Given the description of an element on the screen output the (x, y) to click on. 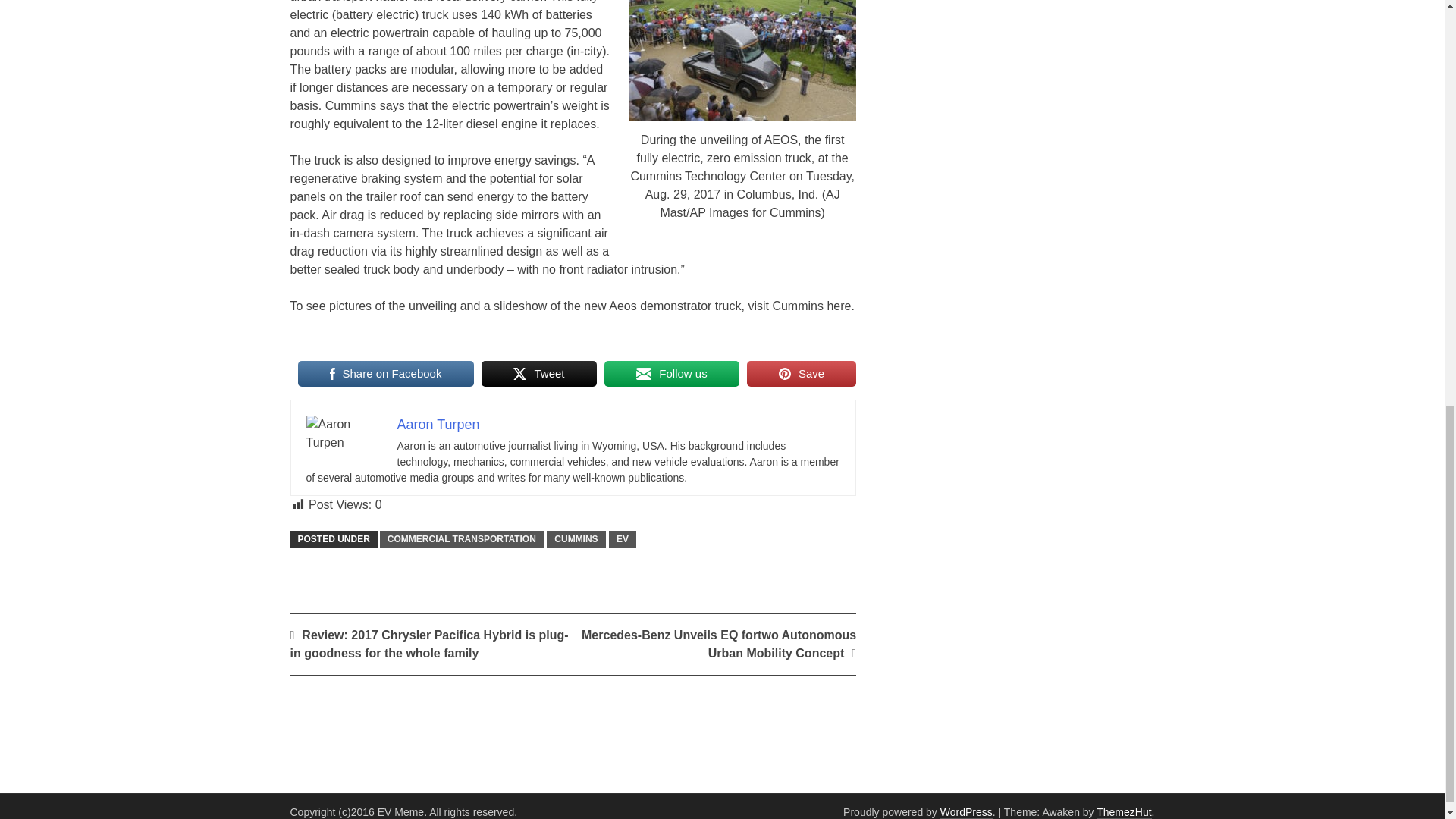
Tweet (538, 373)
ThemezHut (1123, 812)
Aaron Turpen (438, 424)
WordPress (966, 812)
EV (622, 538)
Save (801, 373)
COMMERCIAL TRANSPORTATION (461, 538)
Share on Facebook (385, 373)
Follow us (671, 373)
CUMMINS (576, 538)
WordPress (966, 812)
